Given the description of an element on the screen output the (x, y) to click on. 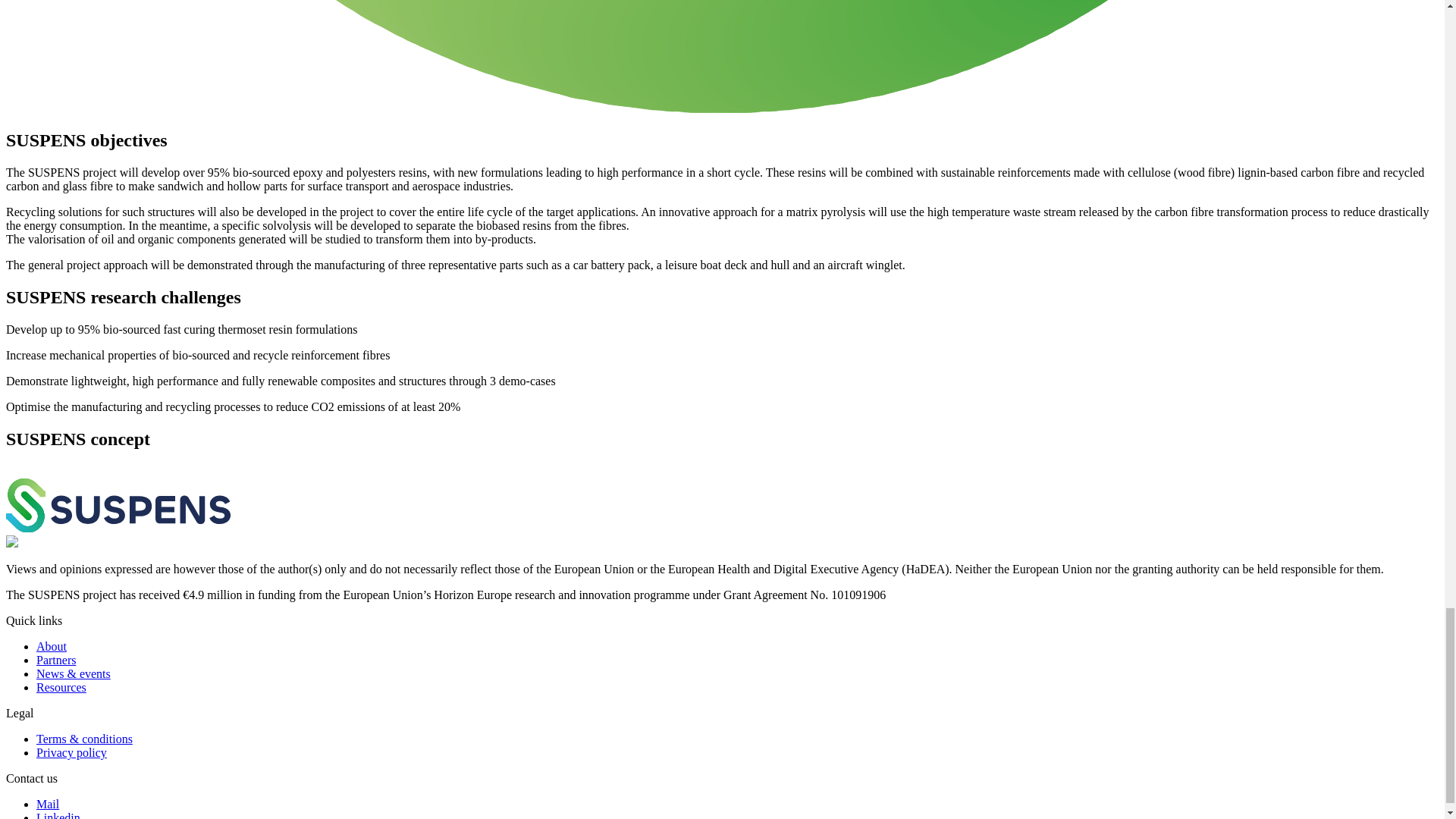
Privacy policy (71, 752)
Mail (47, 803)
Partners (55, 659)
About (51, 645)
Resources (60, 686)
